Given the description of an element on the screen output the (x, y) to click on. 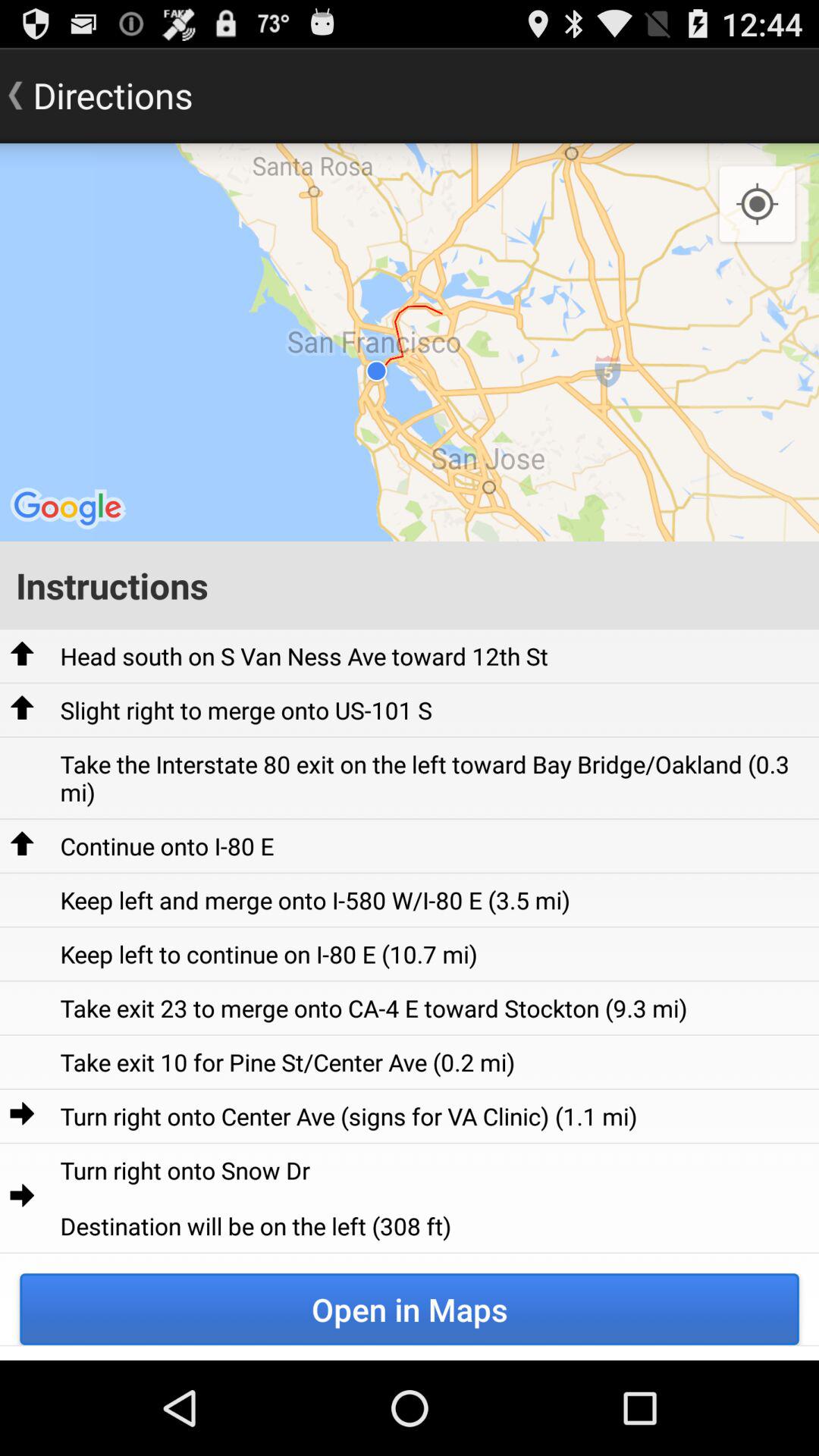
turn on app above slight right to item (304, 655)
